Given the description of an element on the screen output the (x, y) to click on. 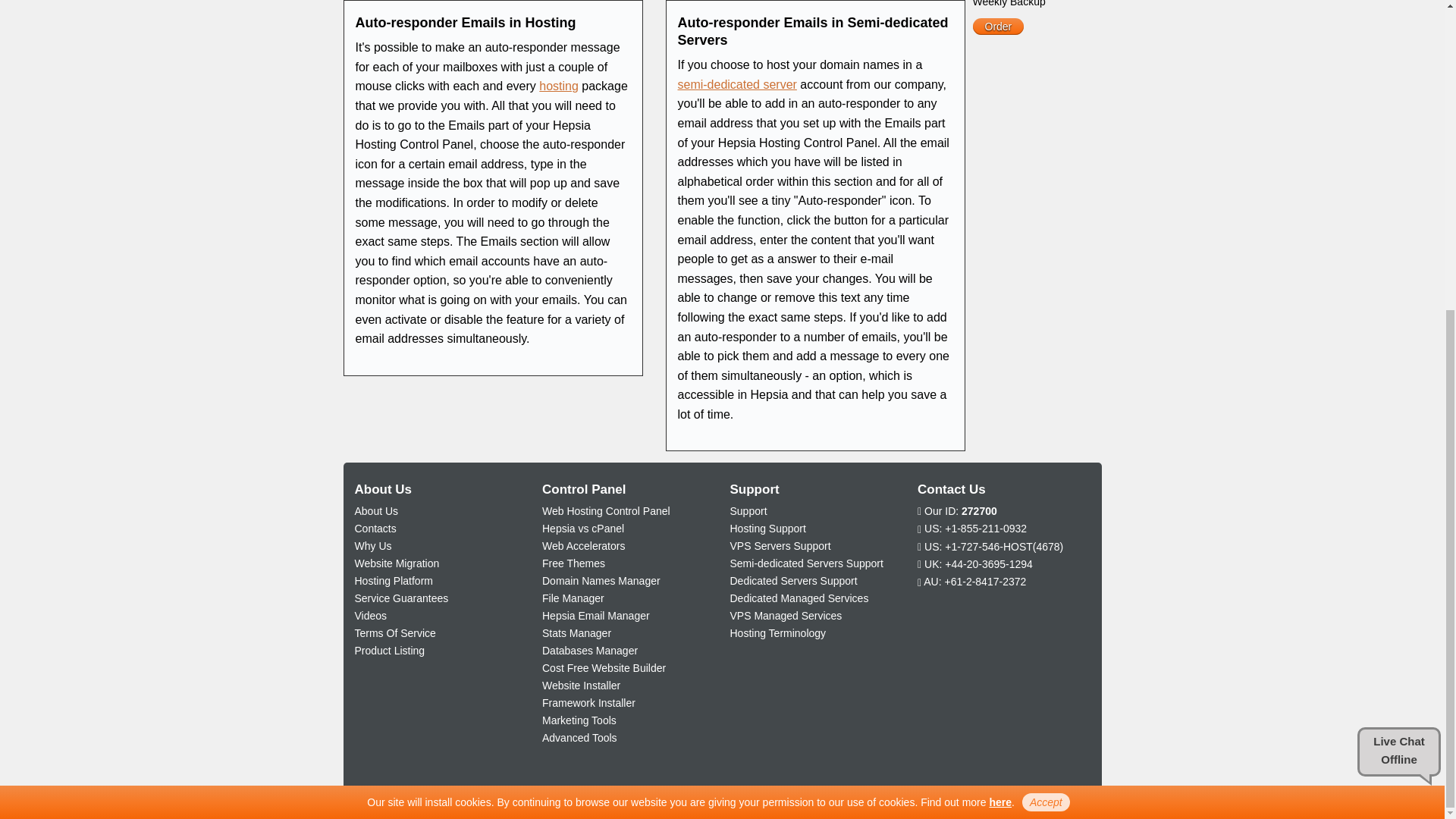
semi-dedicated service (737, 83)
Weekly Backup (1008, 3)
Privacy Policy (999, 310)
Order (997, 26)
Live chat offline (1398, 260)
hosting (558, 85)
